Given the description of an element on the screen output the (x, y) to click on. 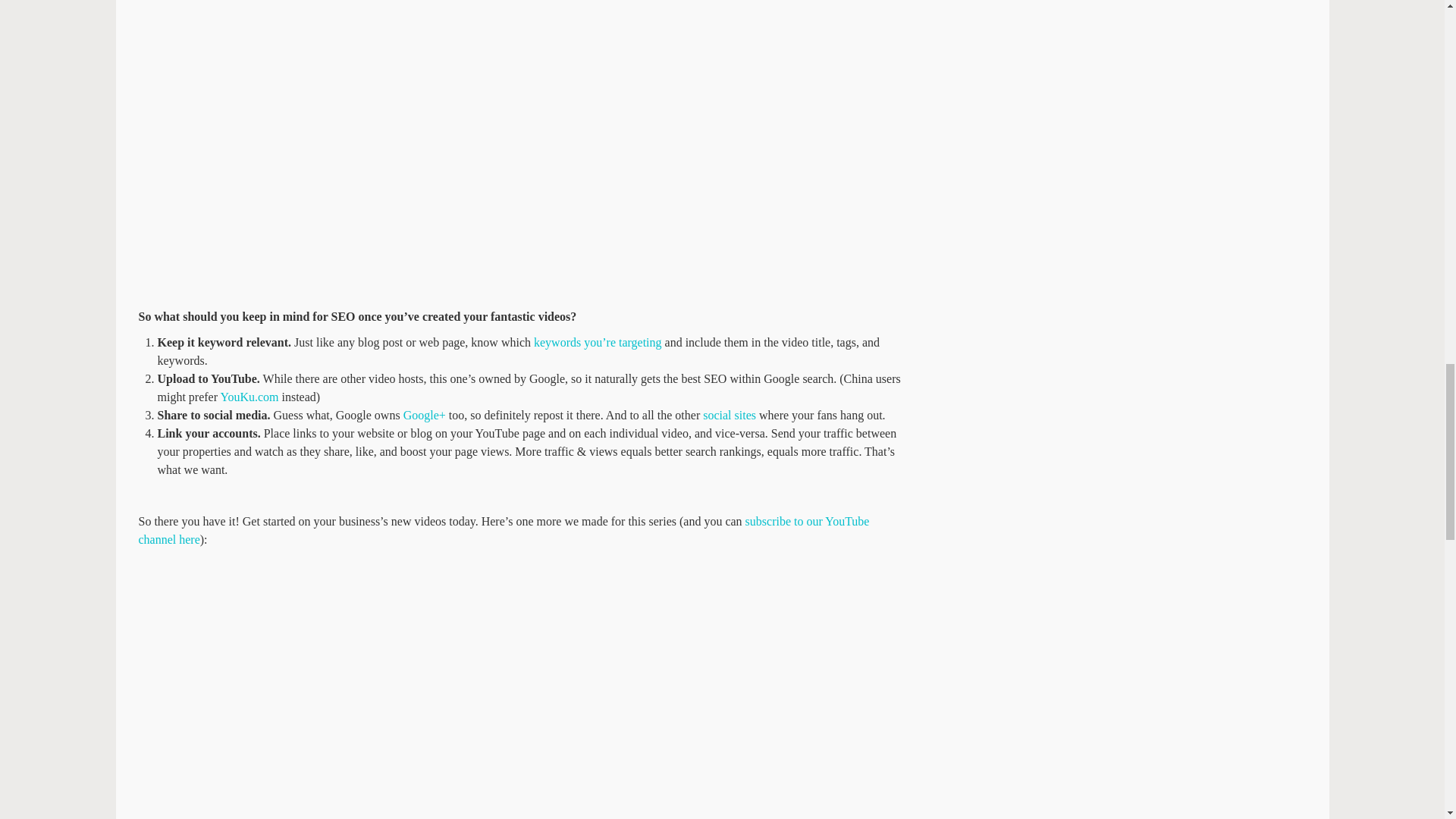
YouKu.com (248, 396)
social sites (729, 414)
subscribe to our YouTube channel here (503, 530)
